Given the description of an element on the screen output the (x, y) to click on. 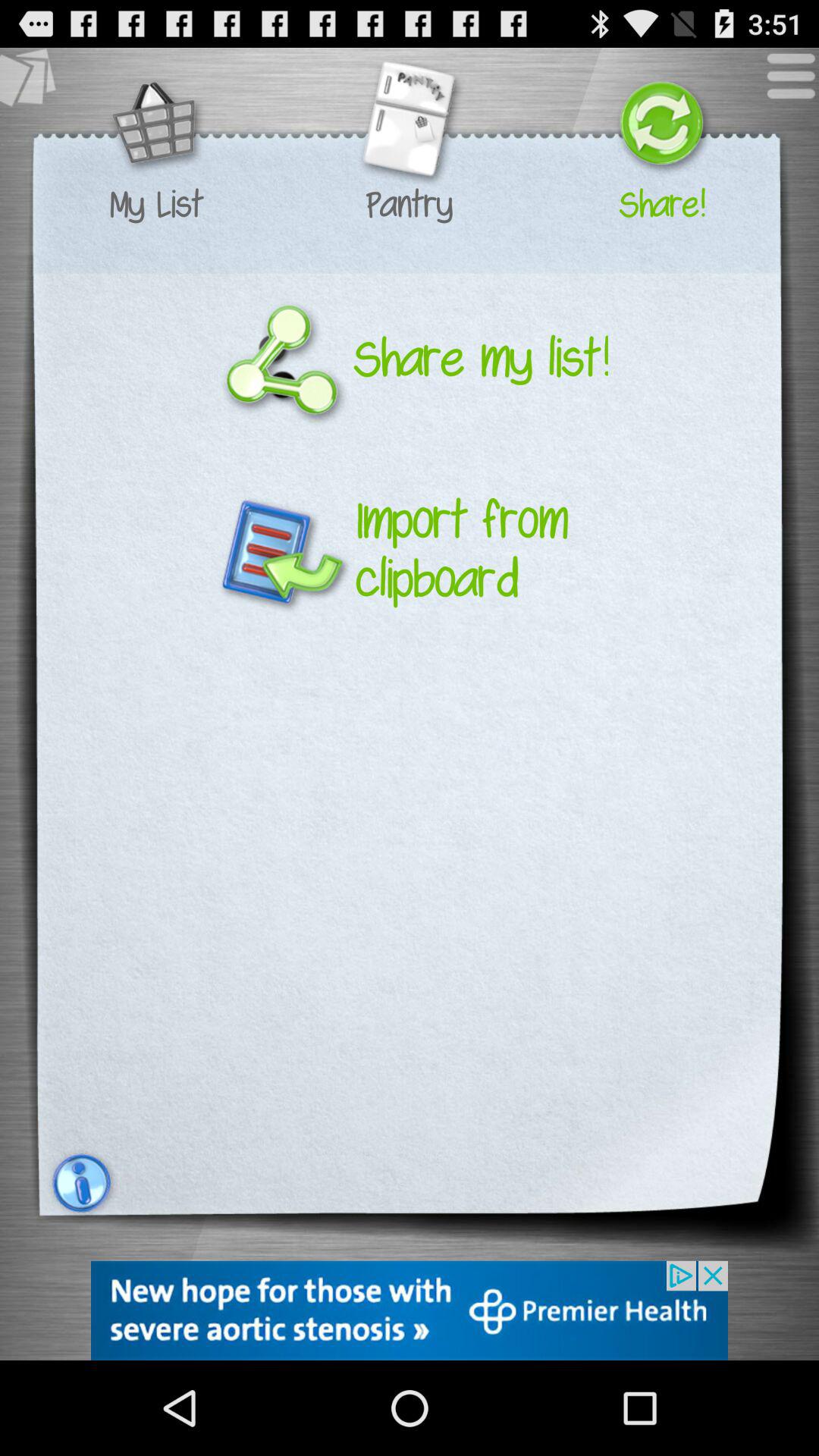
click to menu option (783, 83)
